Given the description of an element on the screen output the (x, y) to click on. 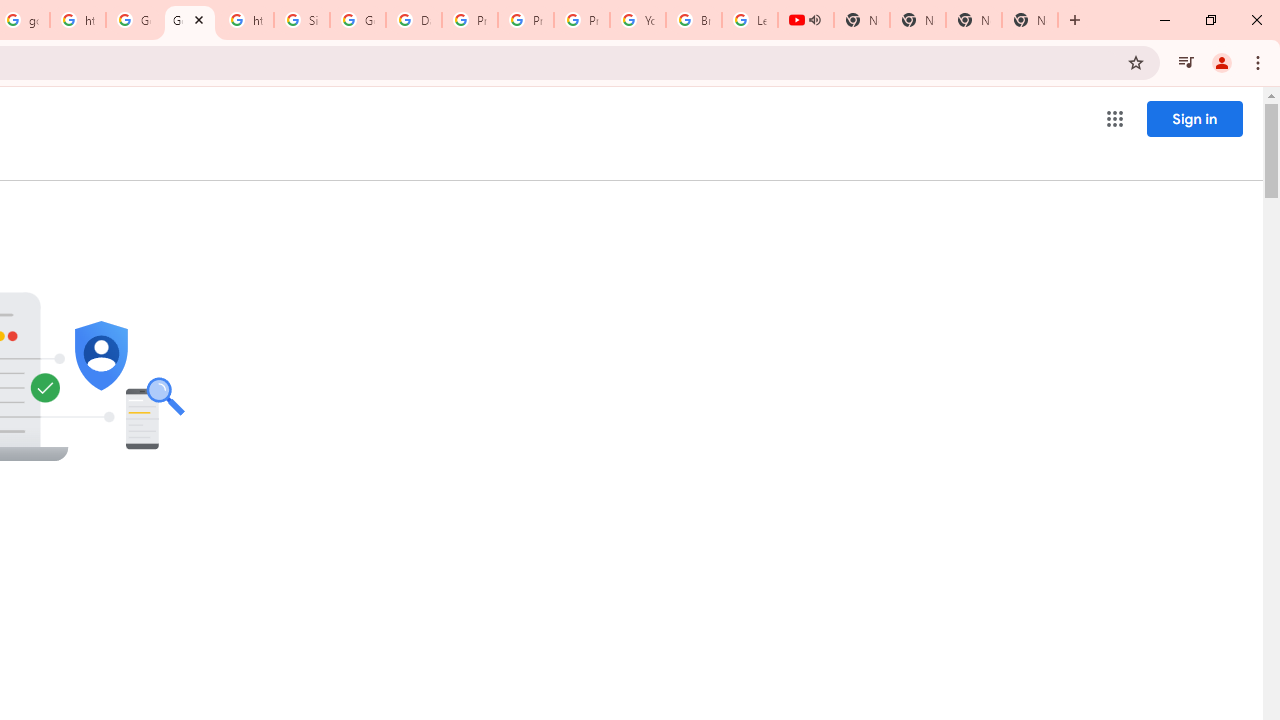
Sign in - Google Accounts (301, 20)
New Tab (1030, 20)
Privacy Help Center - Policies Help (525, 20)
https://scholar.google.com/ (77, 20)
